Given the description of an element on the screen output the (x, y) to click on. 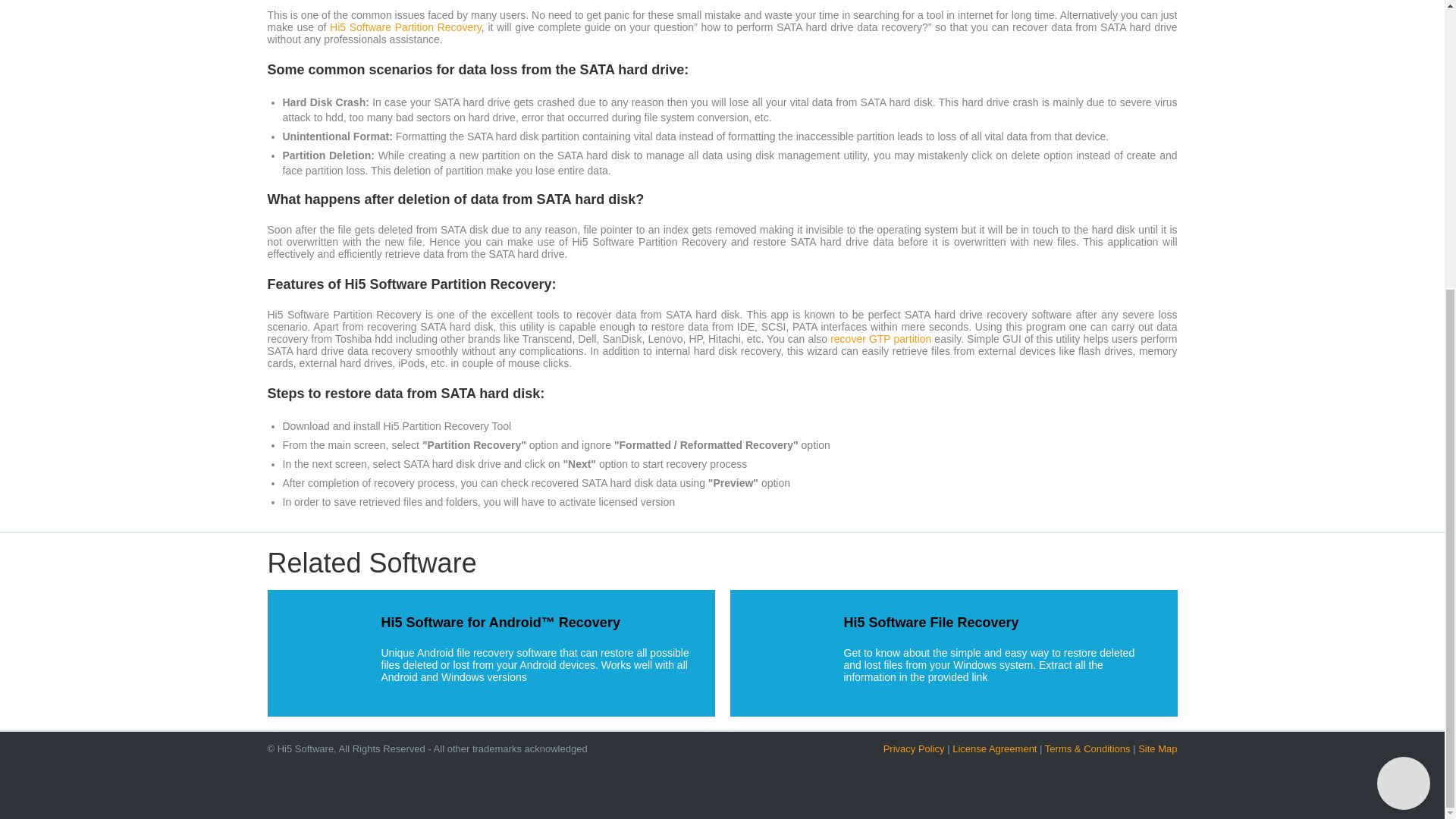
Hi5 Software File Recovery (930, 622)
Hi5 Software Partition Recovery (405, 27)
recover GTP partition (880, 338)
Privacy Policy (913, 748)
License Agreement (994, 748)
Site Map (1157, 748)
